Given the description of an element on the screen output the (x, y) to click on. 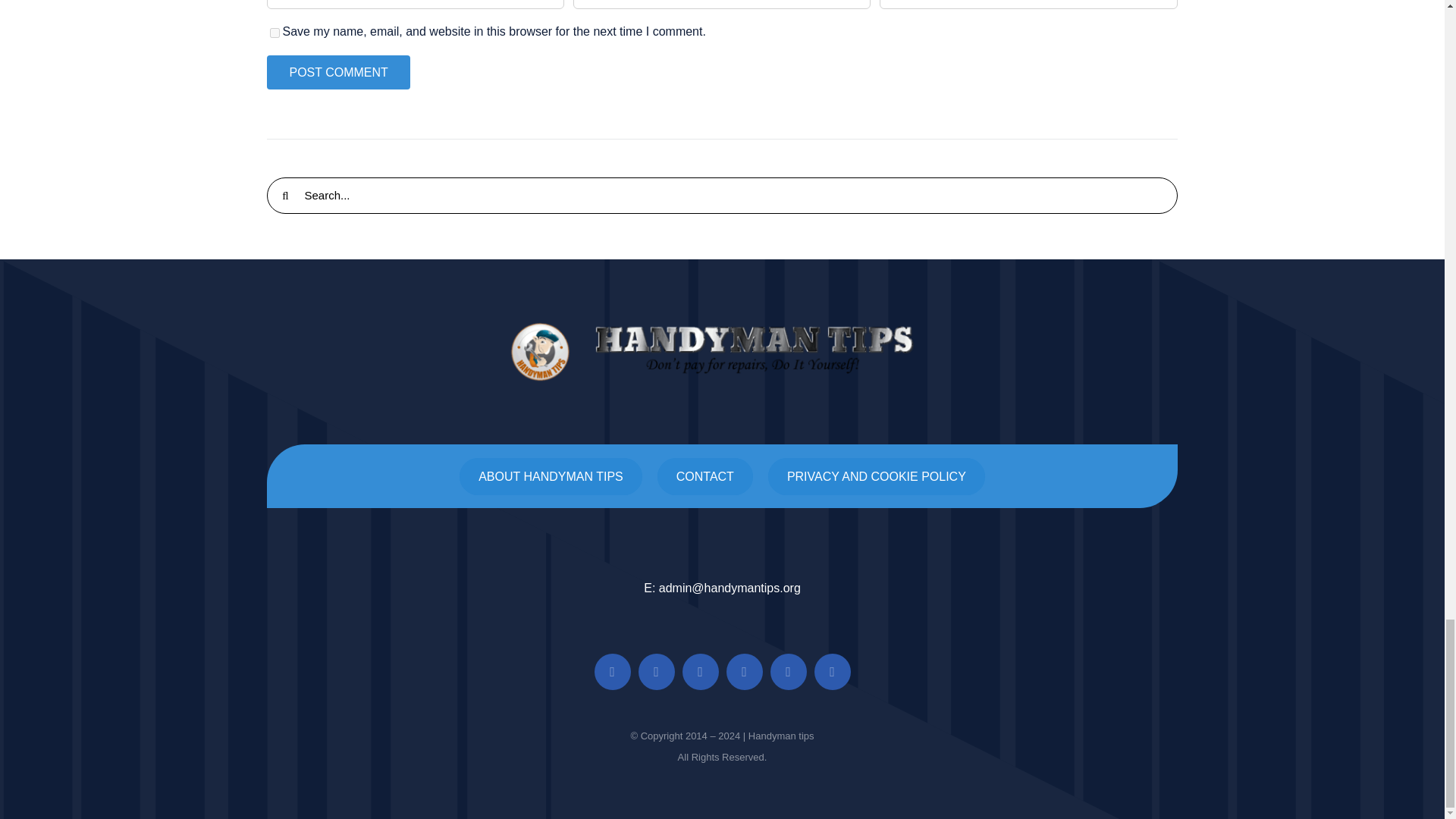
Post Comment (337, 72)
ABOUT HANDYMAN TIPS (551, 476)
CONTACT (705, 476)
yes (274, 32)
PRIVACY AND COOKIE POLICY (876, 476)
Handyman tips header new (721, 352)
Post Comment (337, 72)
